Given the description of an element on the screen output the (x, y) to click on. 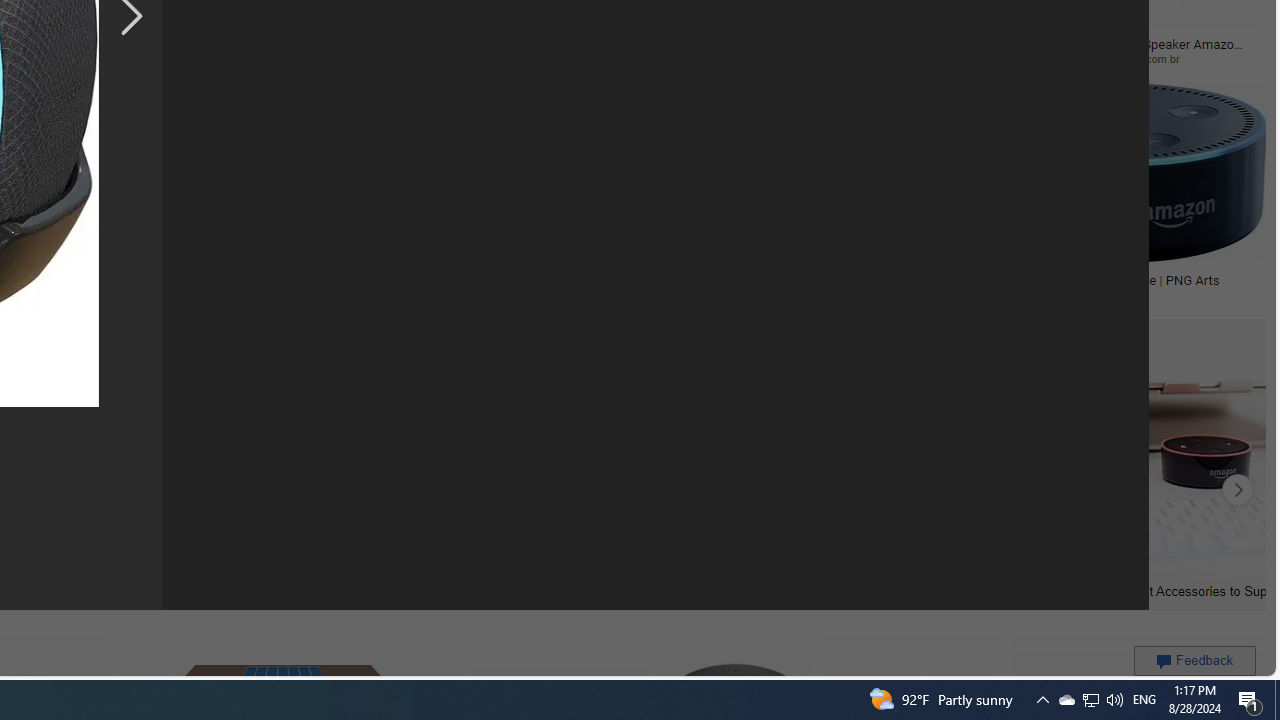
currys.co.uk (559, 294)
Feedback (1194, 660)
Alexa Dot Transparent Image | PNG Artspngarts.comSave (1122, 196)
energyearth.com (116, 295)
avenidatecnologica.com (960, 58)
Amazon Echo Dot Kids Edition - 5th Generation (117, 286)
energyearth.com (84, 294)
pngkey.com (258, 58)
Amazonecho Dot With Alexa (Gen 4)pnghq.comSave (840, 196)
Click to scroll right (1238, 489)
